Given the description of an element on the screen output the (x, y) to click on. 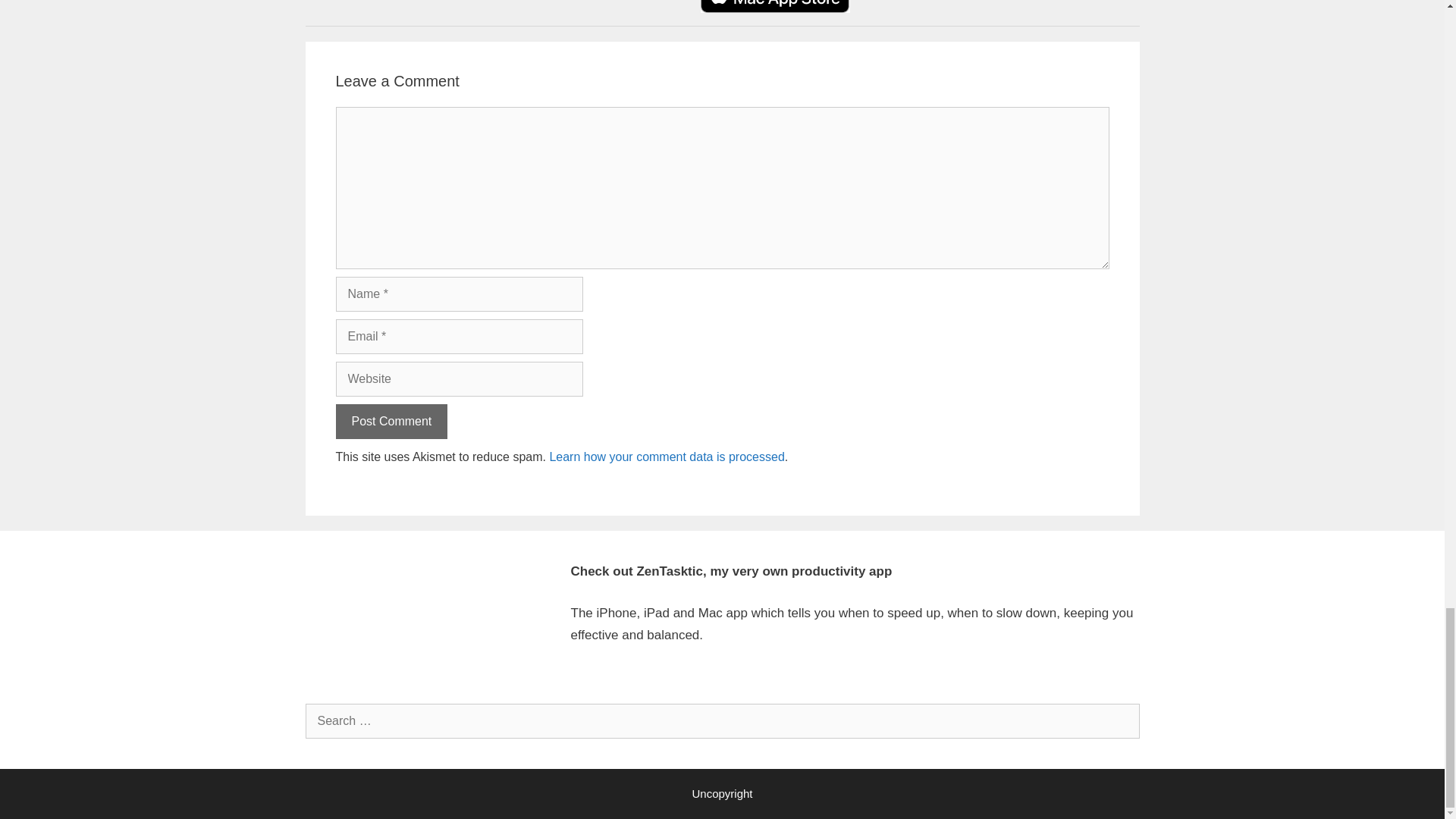
Search for: (721, 720)
Uncopyright (721, 793)
Post Comment (390, 421)
Learn how your comment data is processed (666, 456)
Post Comment (390, 421)
